Given the description of an element on the screen output the (x, y) to click on. 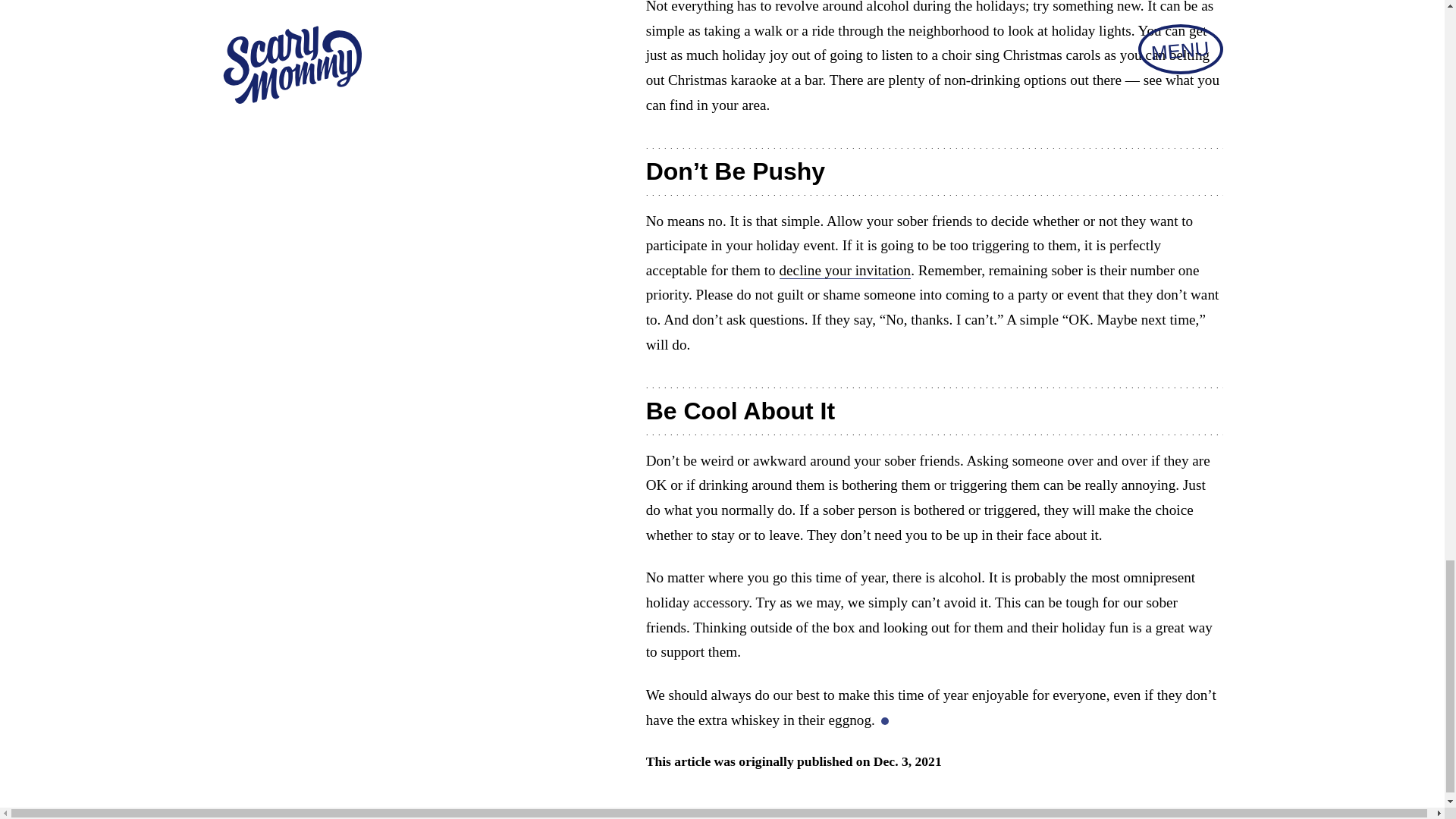
decline your invitation (844, 270)
